Given the description of an element on the screen output the (x, y) to click on. 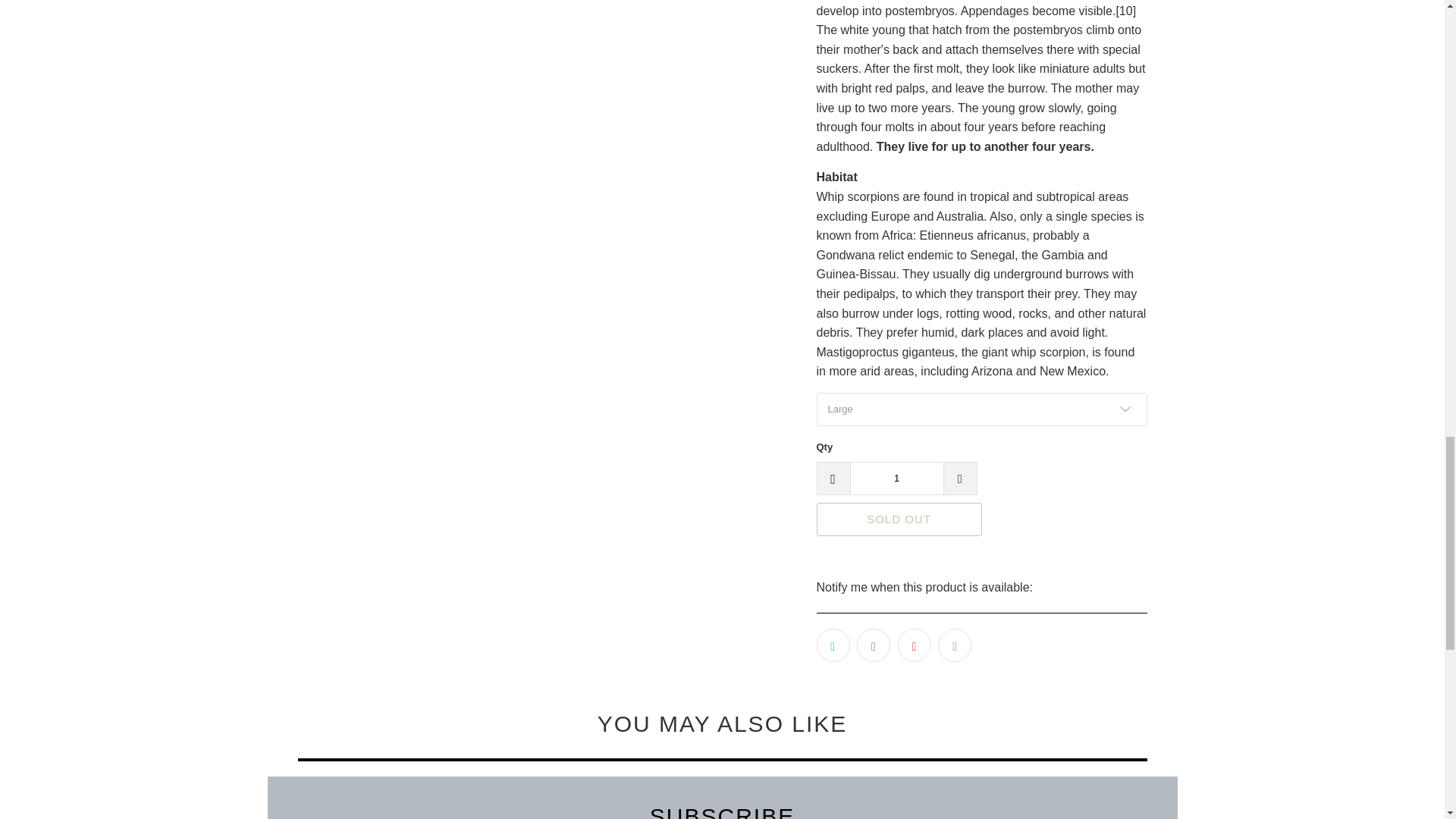
1 (895, 478)
Share this on Facebook (873, 644)
Share this on Twitter (831, 644)
Email this to a friend (954, 644)
Share this on Pinterest (914, 644)
